Given the description of an element on the screen output the (x, y) to click on. 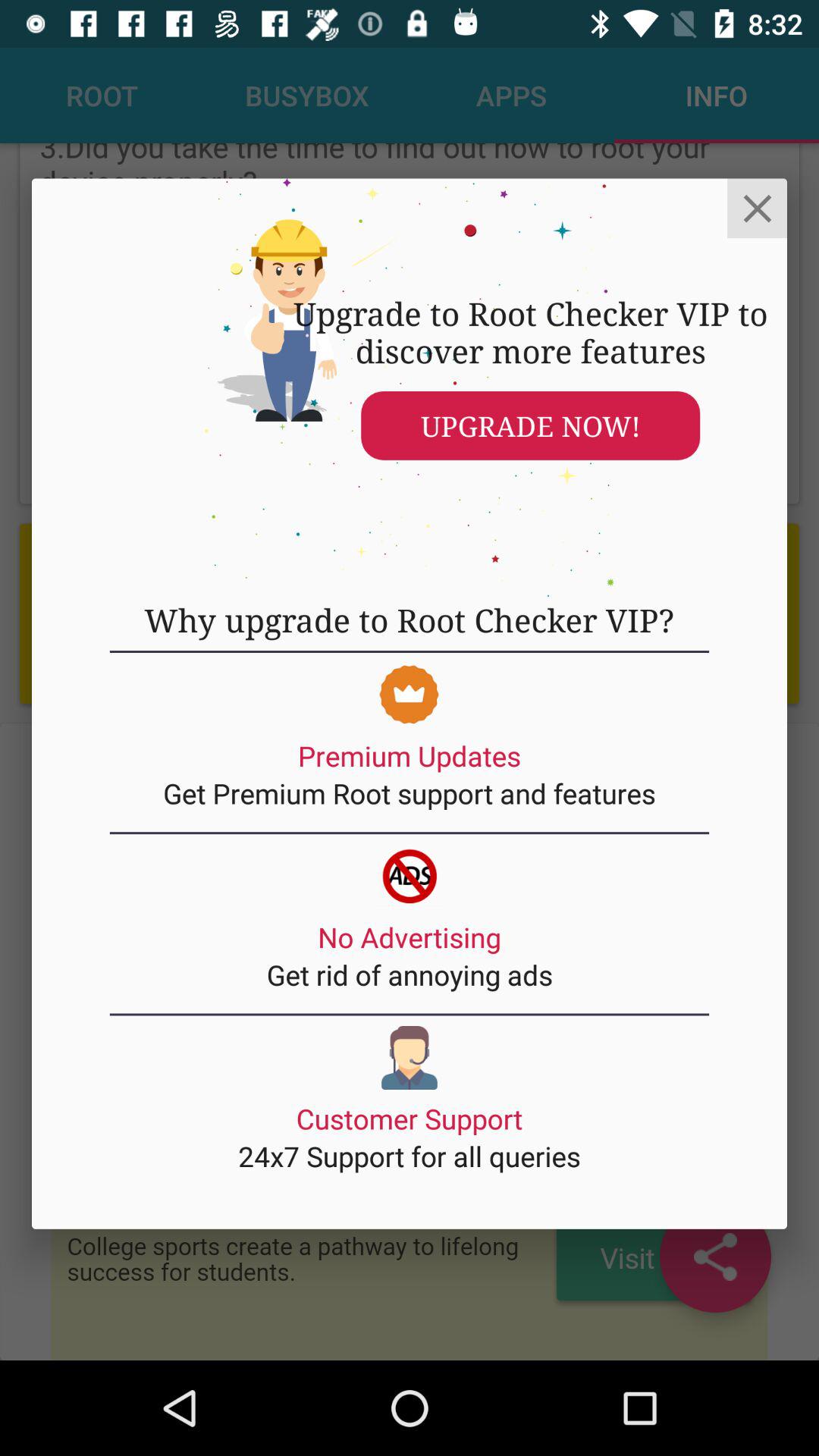
choose the icon above the upgrade to root item (757, 208)
